Given the description of an element on the screen output the (x, y) to click on. 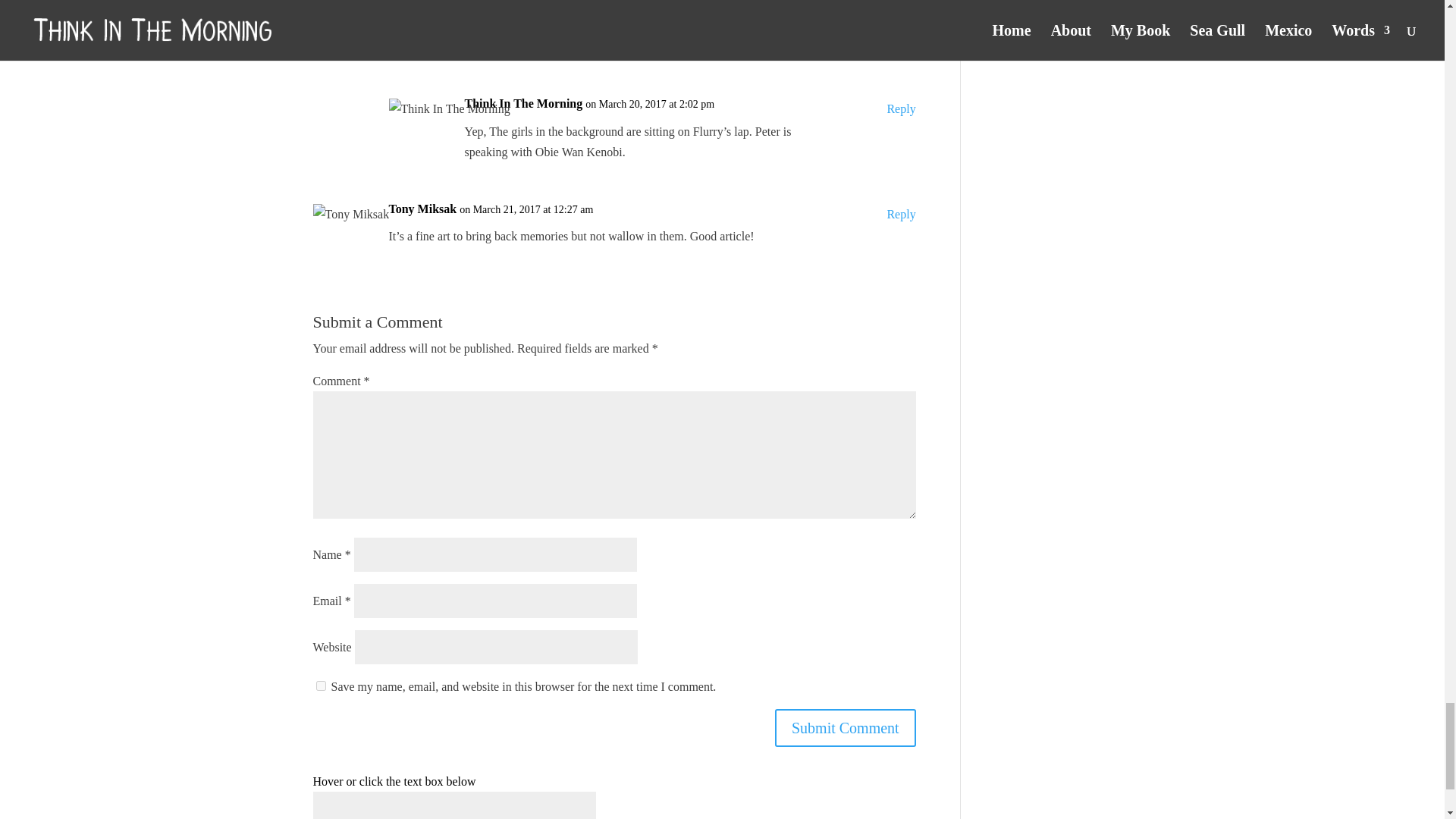
Submit Comment (844, 727)
Reply (900, 213)
Submit Comment (844, 727)
yes (319, 685)
Reply (900, 1)
Reply (900, 108)
